Given the description of an element on the screen output the (x, y) to click on. 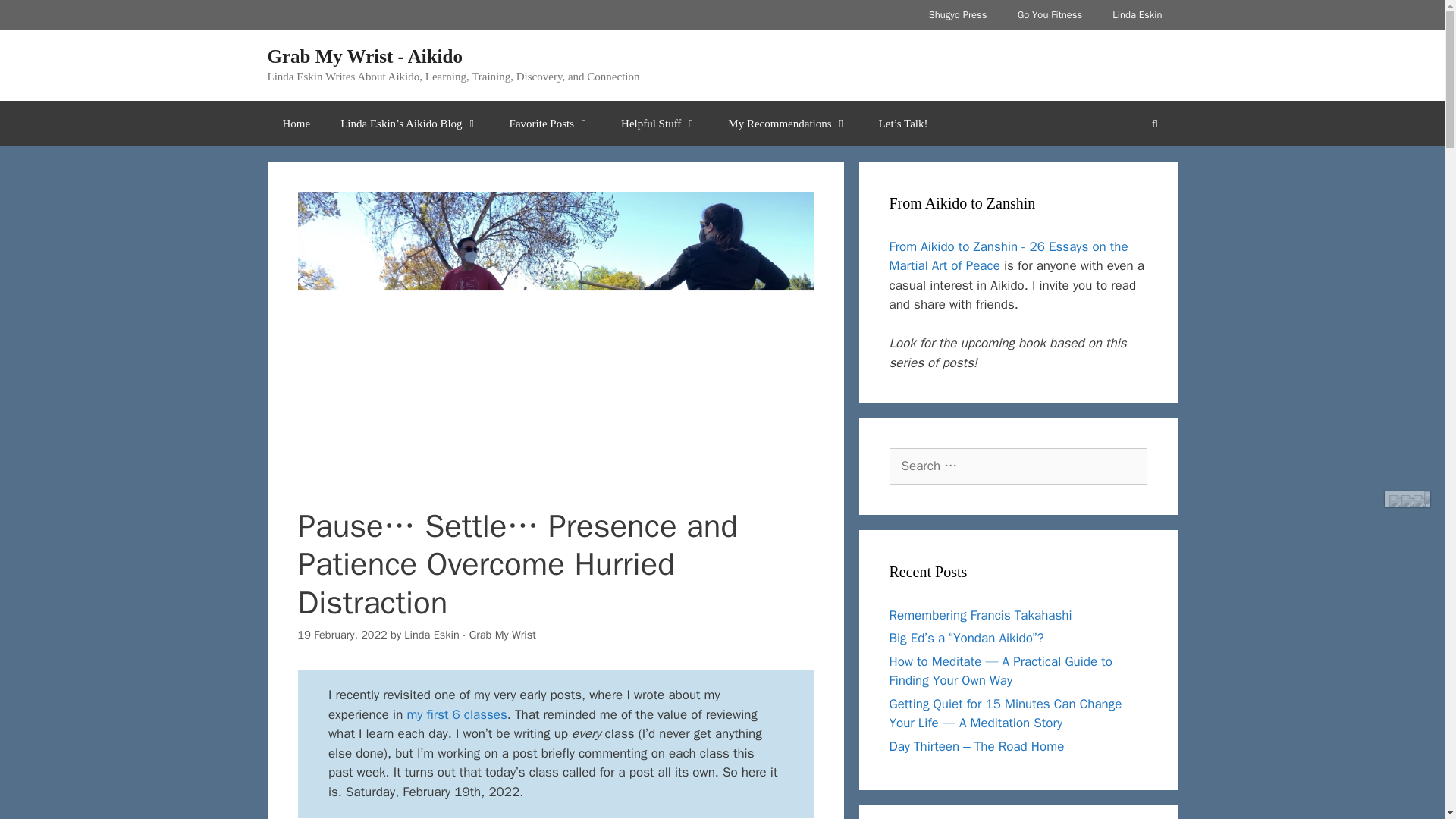
View all posts by Linda Eskin - Grab My Wrist (469, 634)
Shugyo Press (958, 15)
Grab My Wrist - Aikido (363, 55)
Search for: (1017, 465)
Helpful Stuff (659, 122)
my first 6 classes (456, 714)
Visit Grab My Wrist on Facebook (1394, 500)
Supporting you in achieving lifelong fitness and well-being. (1050, 15)
An overview of the places you can find me online. (1136, 15)
Home (295, 122)
